Given the description of an element on the screen output the (x, y) to click on. 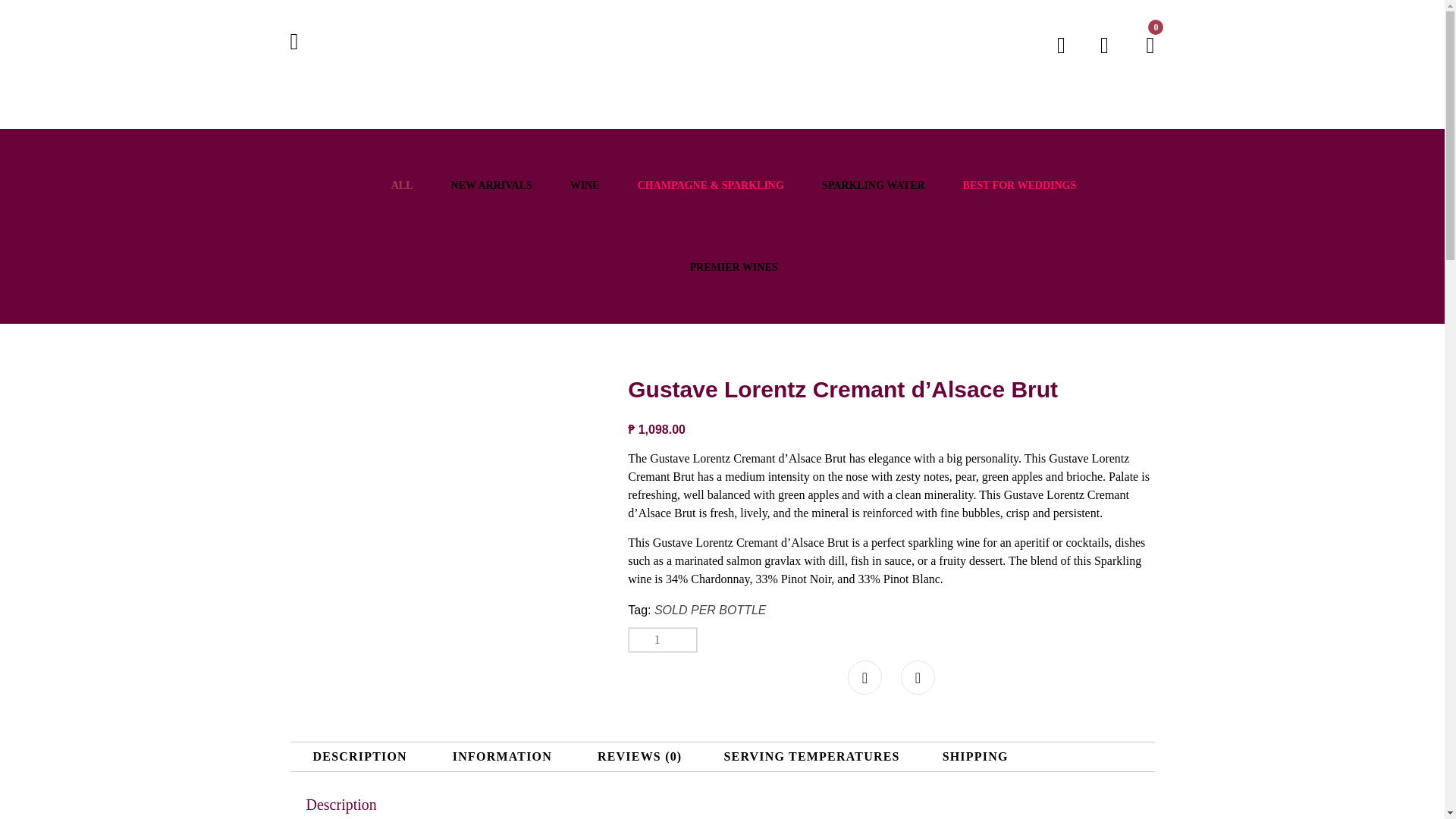
SOLD PER BOTTLE (710, 609)
BEST FOR WEDDINGS (1019, 185)
PREMIER WINES (732, 267)
SPARKLING WATER (873, 185)
Qty (662, 639)
NEW ARRIVALS (491, 185)
1 (662, 639)
